Given the description of an element on the screen output the (x, y) to click on. 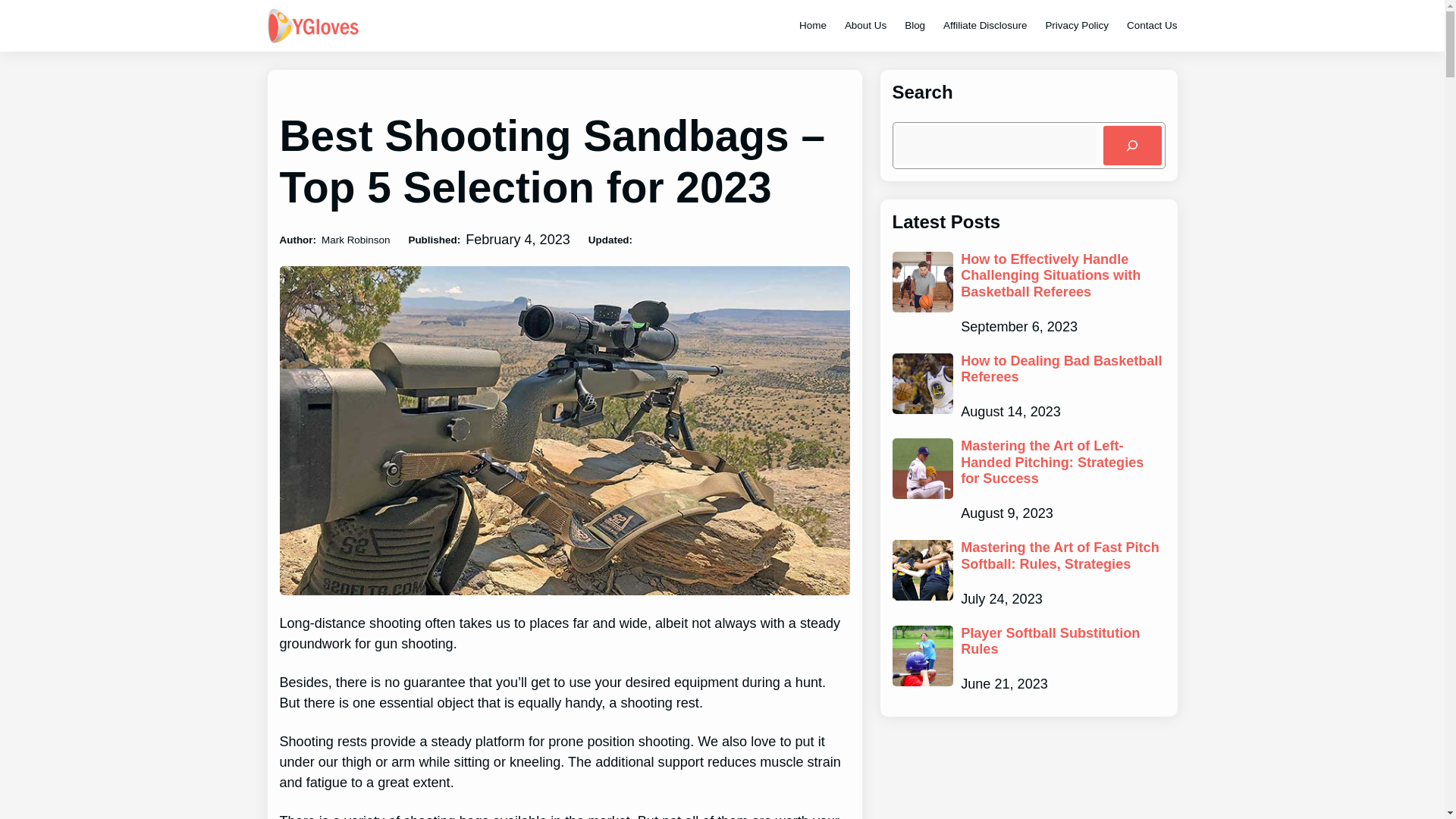
Player Softball Substitution Rules (1062, 641)
Affiliate Disclosure (984, 25)
About Us (865, 25)
Contact Us (1151, 25)
Mastering the Art of Fast Pitch Softball: Rules, Strategies (1062, 555)
How to Dealing Bad Basketball Referees (1062, 368)
Privacy Policy (1076, 25)
Home (813, 25)
Blog (914, 25)
